Given the description of an element on the screen output the (x, y) to click on. 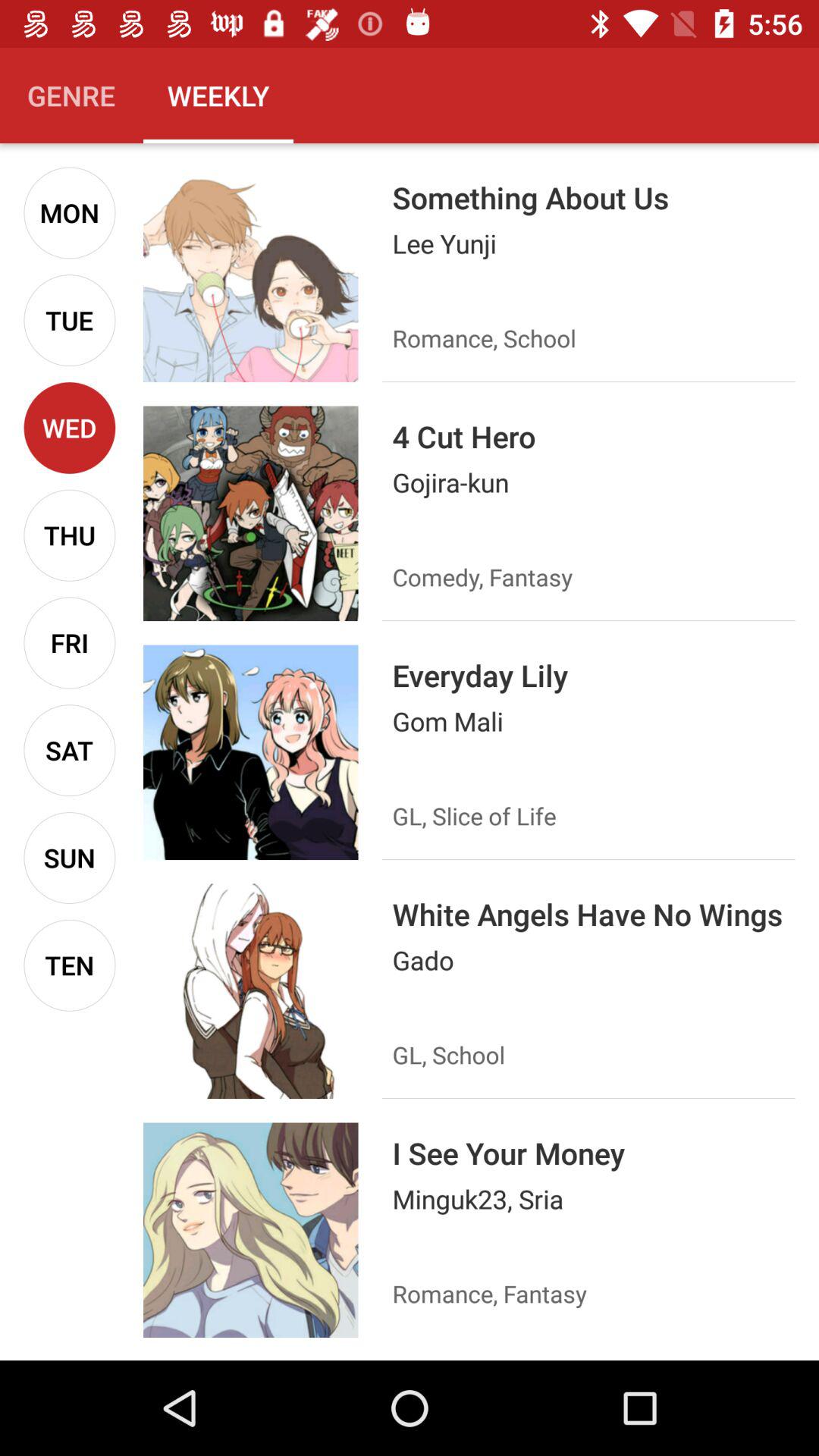
click tue icon (69, 320)
